Given the description of an element on the screen output the (x, y) to click on. 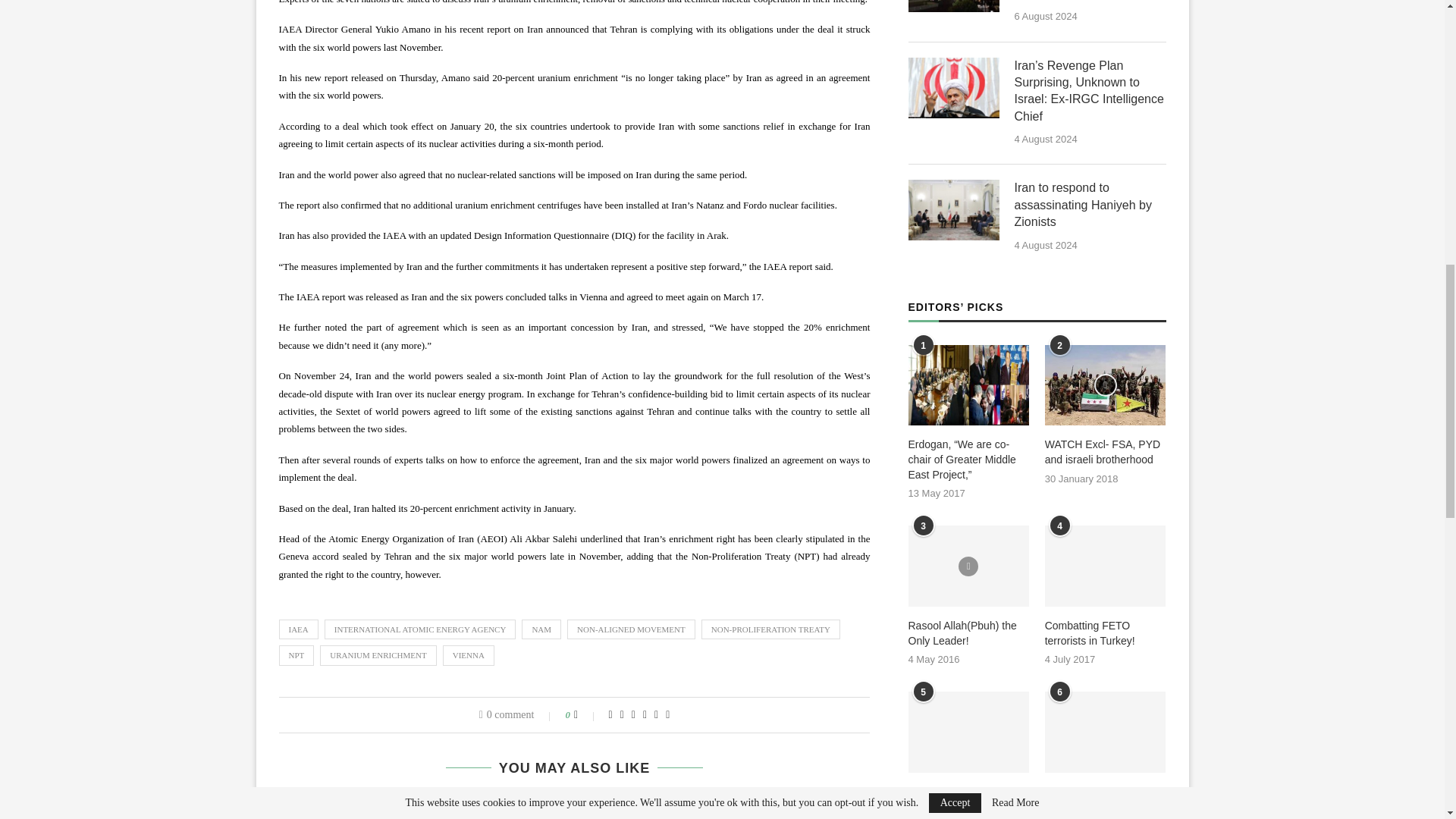
Like (585, 715)
Iran researchers build O-ring manufacturing device using Al (377, 809)
Do Black Holes Suck in Matter Like A Vacuum Cleaner? (574, 809)
